Given the description of an element on the screen output the (x, y) to click on. 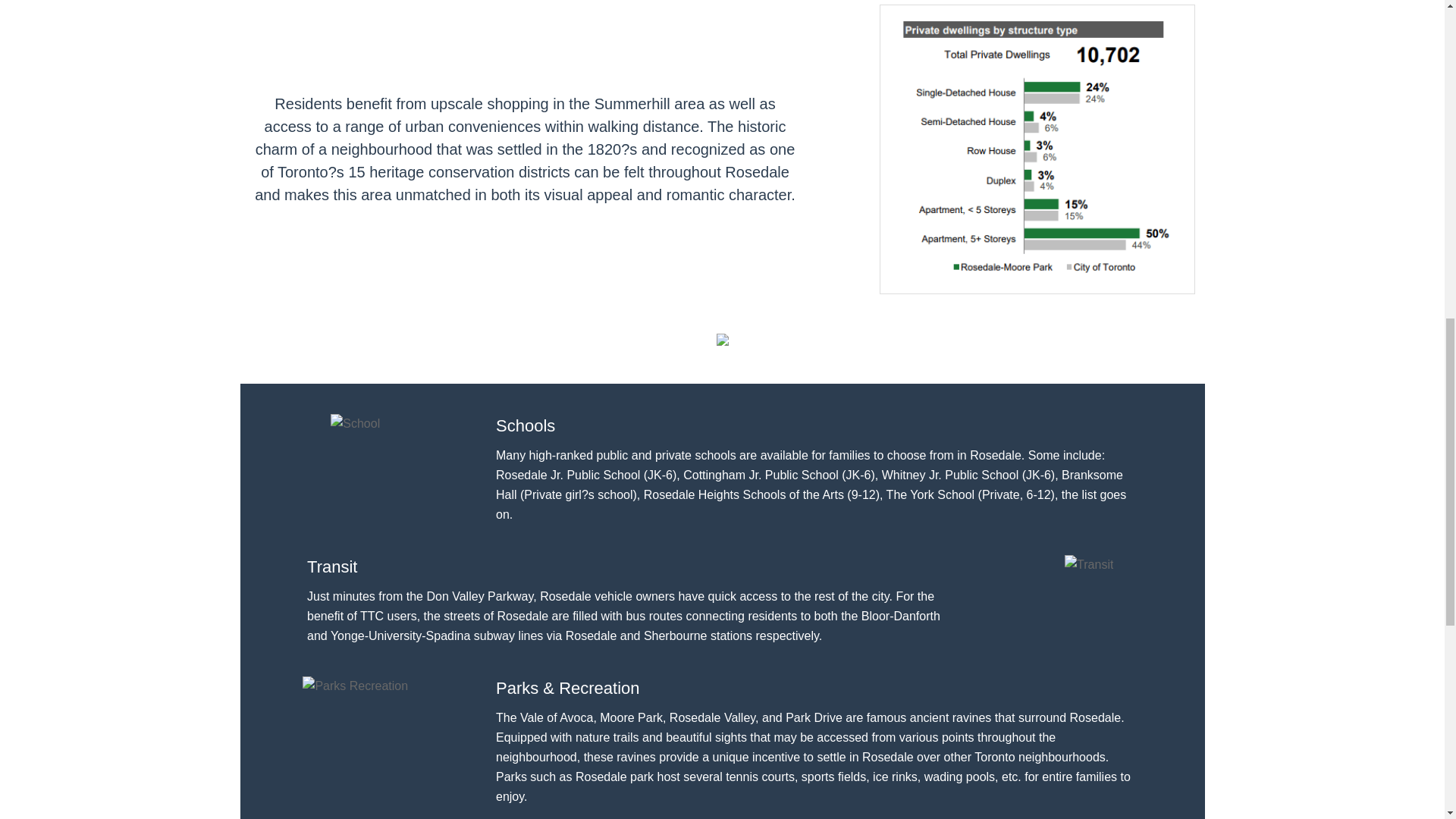
Transit (1088, 564)
School (355, 424)
Parks Recreation (354, 686)
